Given the description of an element on the screen output the (x, y) to click on. 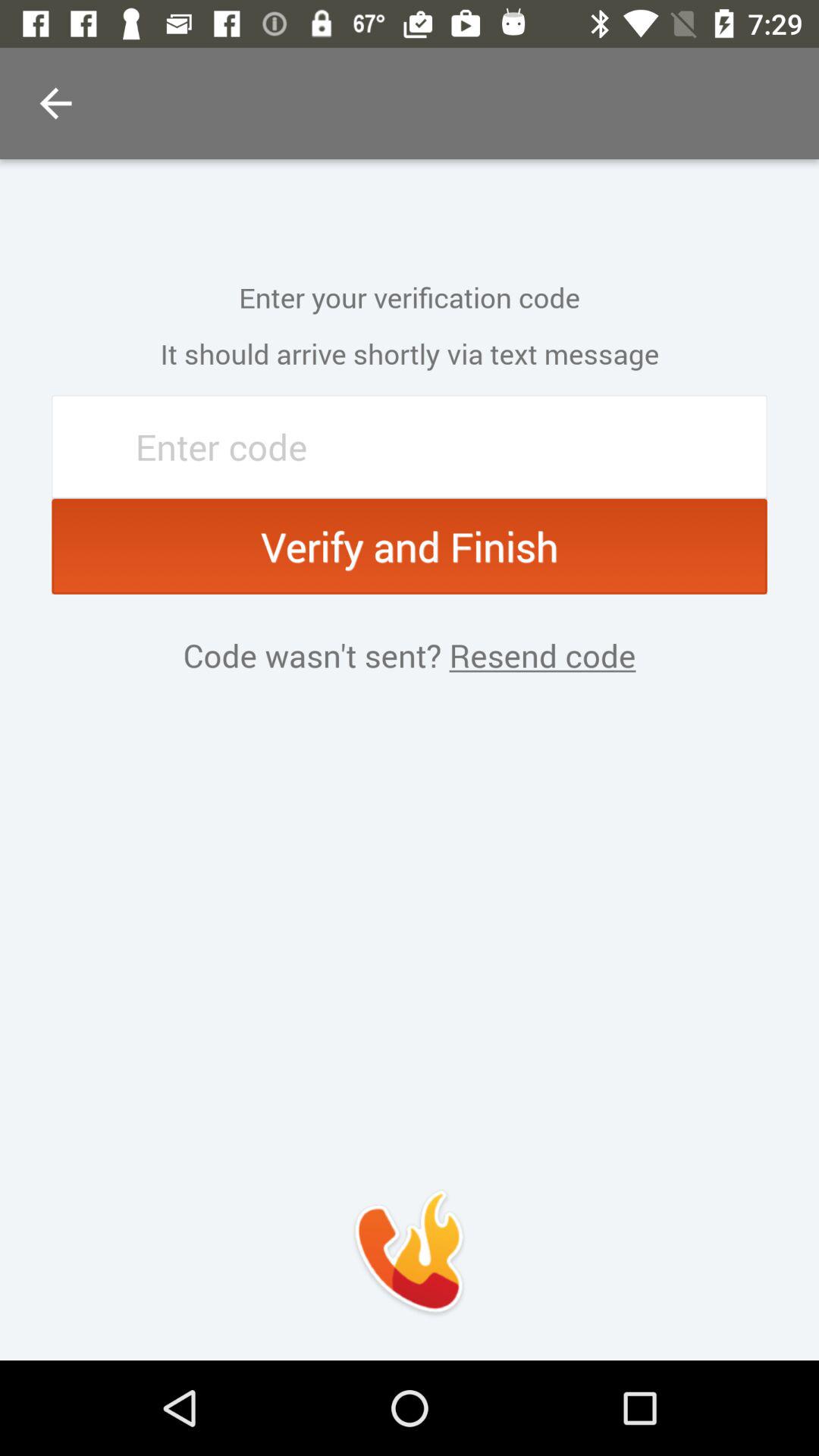
choose the icon above code wasn t icon (409, 546)
